Given the description of an element on the screen output the (x, y) to click on. 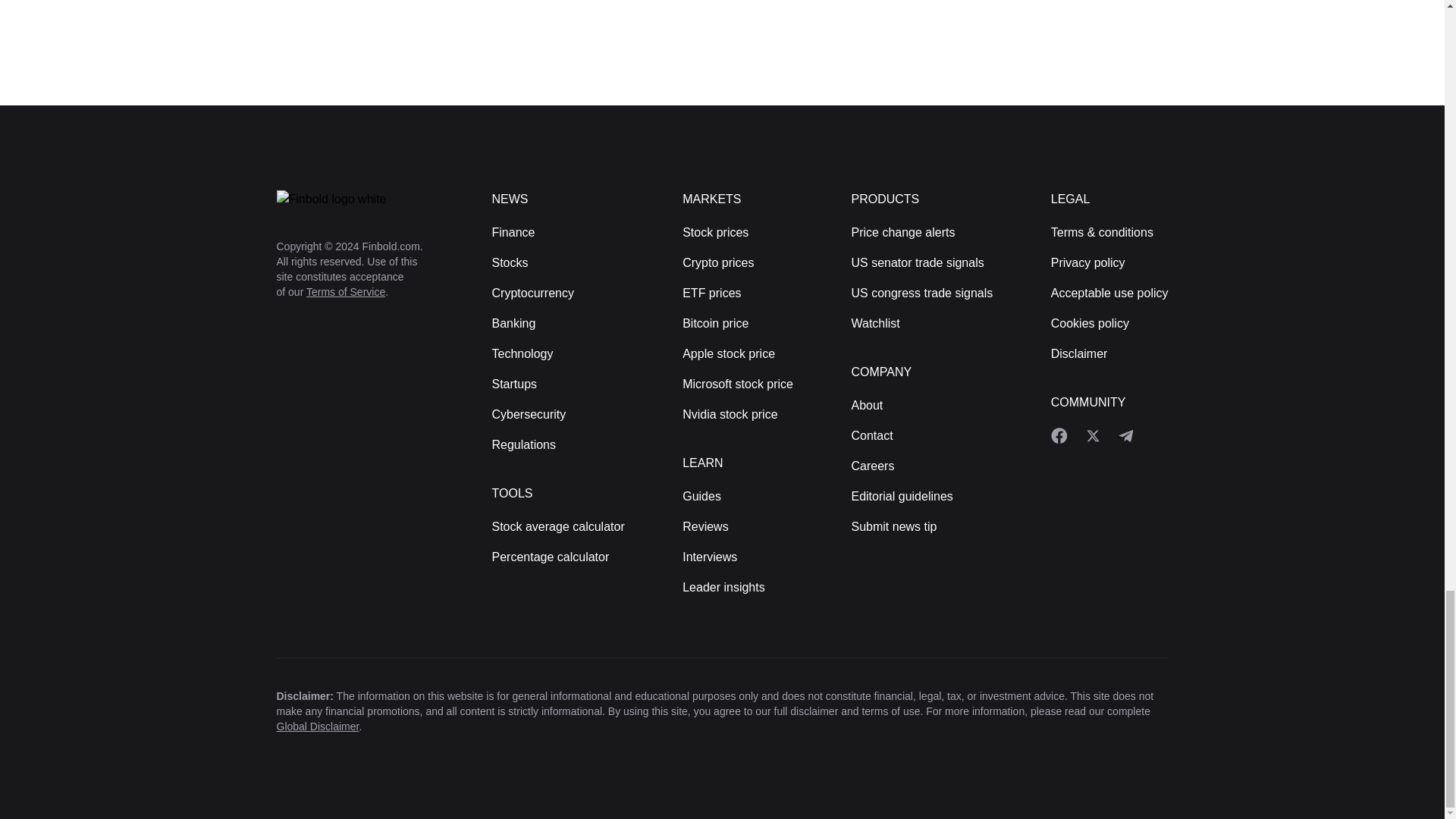
Finance News (513, 232)
Cryptocurrency News (532, 292)
Finbold homepage (359, 199)
Banking News (513, 323)
Stocks News (509, 262)
Technology News (522, 353)
